Given the description of an element on the screen output the (x, y) to click on. 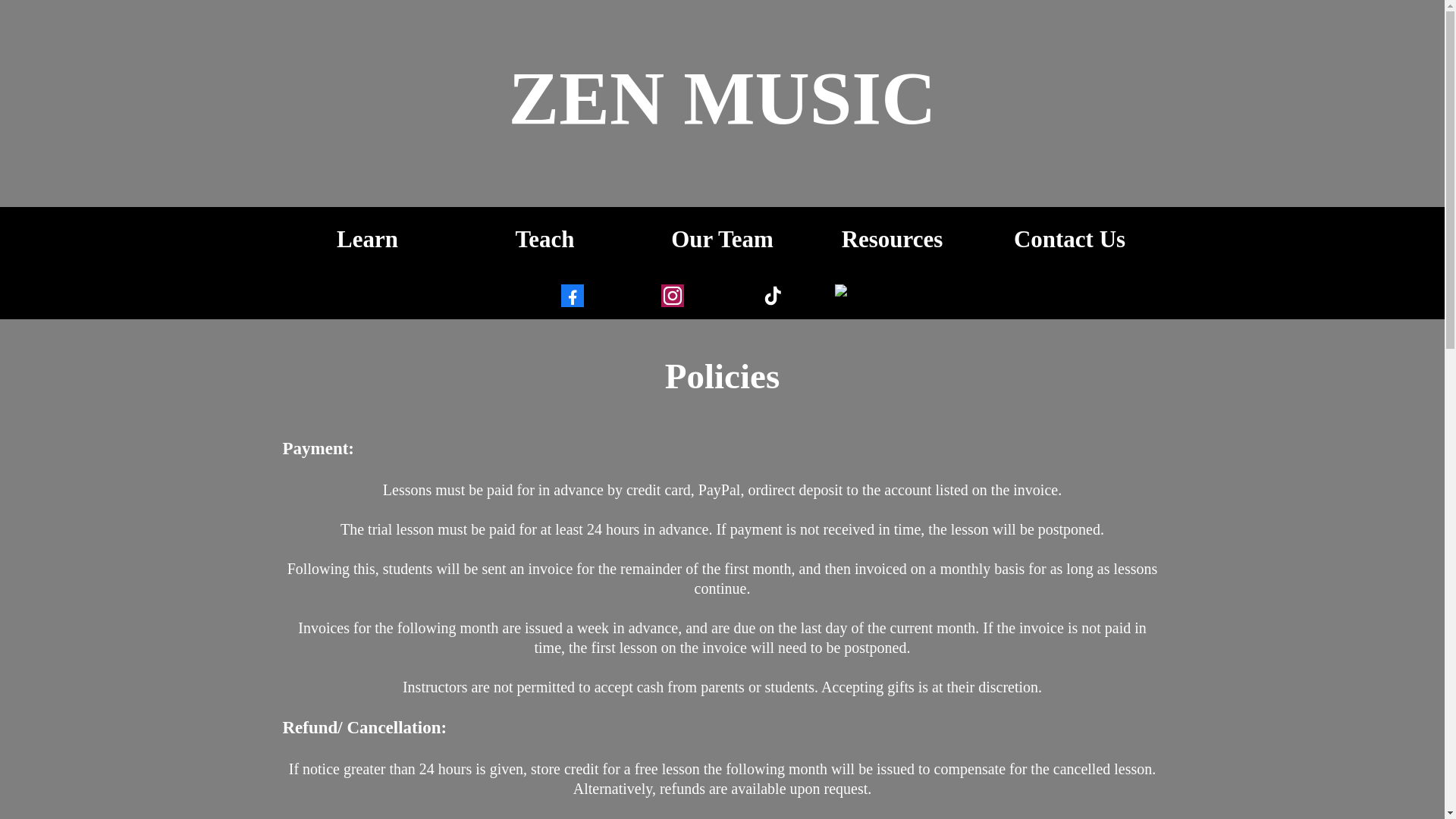
Teach (544, 239)
Contact Us (1077, 239)
Our Team (722, 239)
Resources (900, 239)
Learn (366, 239)
